Given the description of an element on the screen output the (x, y) to click on. 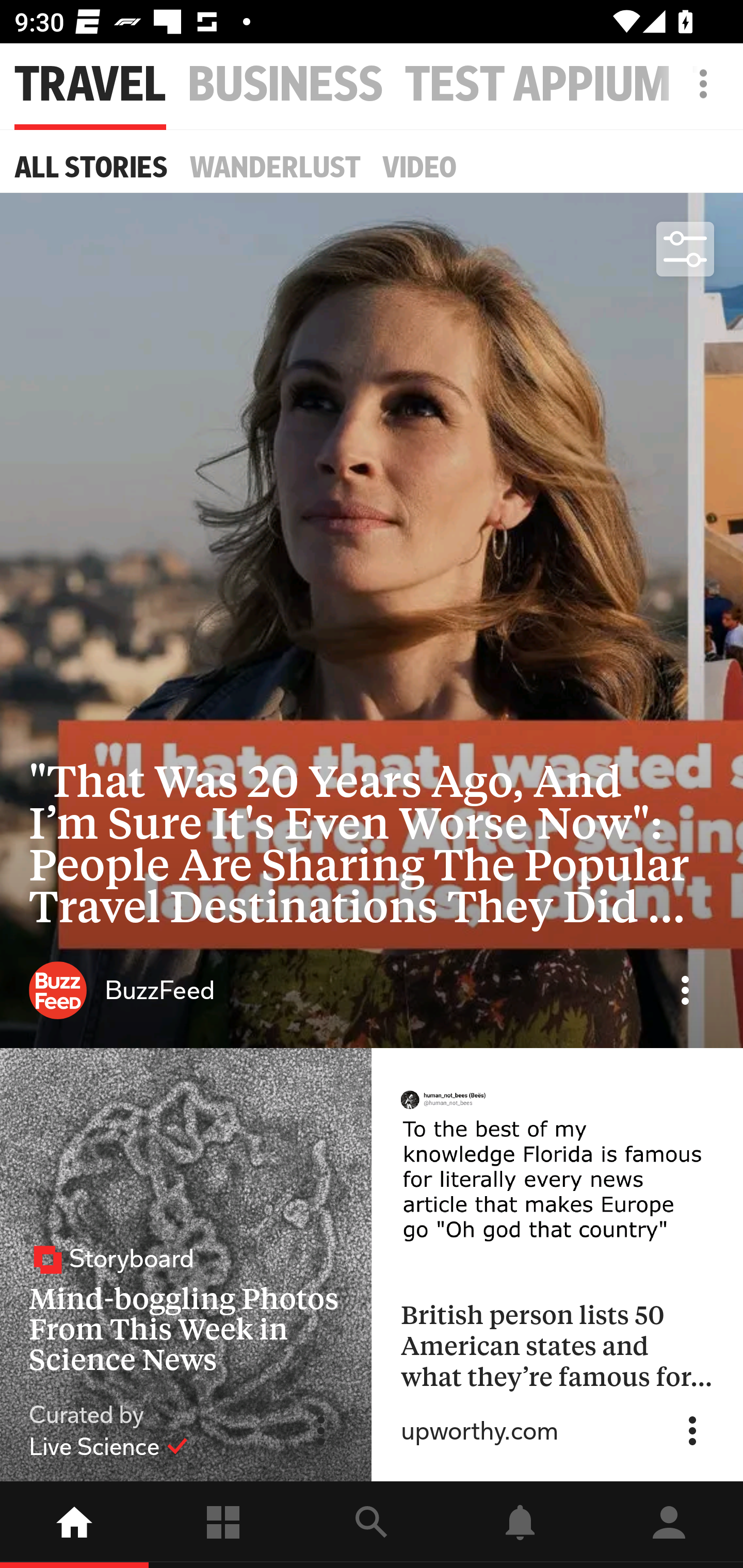
TRAVEL (90, 84)
BUSINESS (285, 84)
TEST APPIUM (537, 84)
TAYLOR SWIFT  (717, 84)
ALL STORIES (90, 166)
WANDERLUST (275, 166)
VIDEO (419, 166)
Options (685, 989)
Options (320, 1430)
Options (692, 1430)
home (74, 1524)
Following (222, 1524)
explore (371, 1524)
Notifications (519, 1524)
Profile (668, 1524)
